Given the description of an element on the screen output the (x, y) to click on. 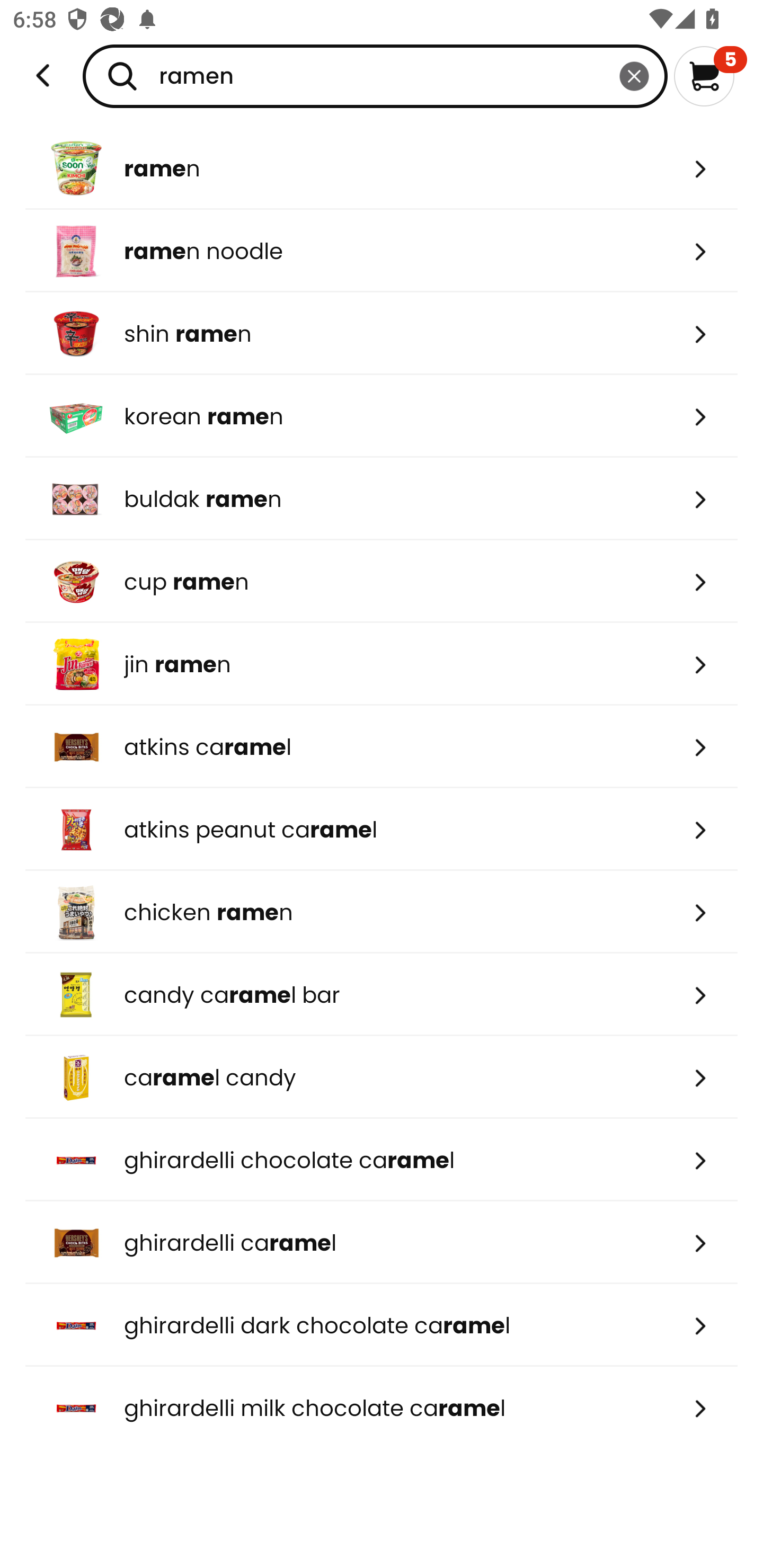
ramen (374, 75)
5 (709, 75)
Weee! (42, 76)
ramen (381, 168)
ramen noodle (381, 250)
shin ramen (381, 332)
korean ramen (381, 415)
buldak ramen (381, 498)
cup ramen (381, 581)
jin ramen (381, 663)
atkins caramel (381, 746)
atkins peanut caramel (381, 829)
chicken ramen (381, 911)
candy caramel bar (381, 994)
caramel candy (381, 1077)
ghirardelli chocolate caramel (381, 1160)
ghirardelli caramel (381, 1242)
ghirardelli dark chocolate caramel (381, 1325)
ghirardelli milk chocolate caramel (381, 1407)
